Given the description of an element on the screen output the (x, y) to click on. 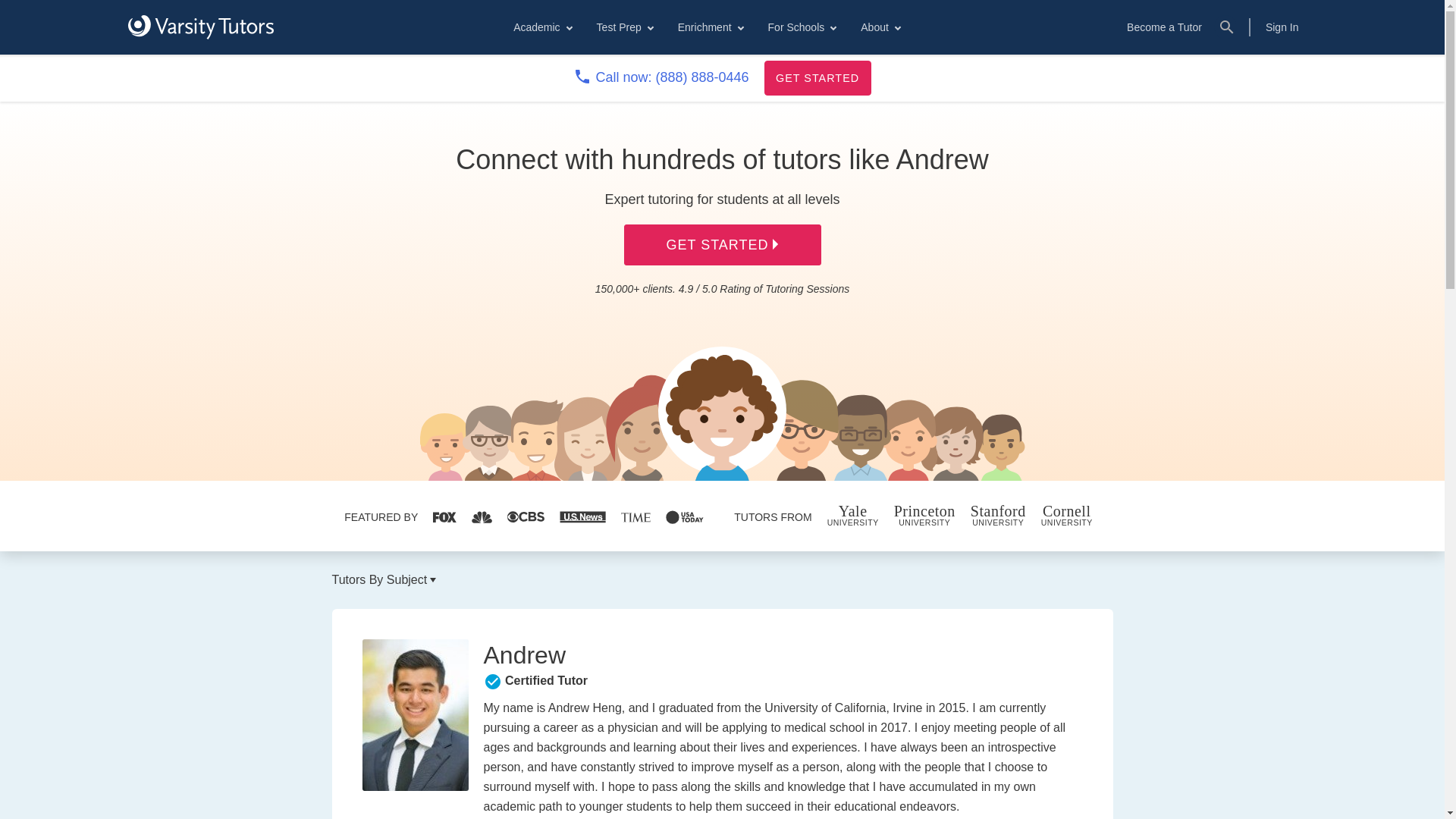
Academic (541, 27)
GET STARTED (817, 77)
Varsity Tutors (200, 27)
Varsity Tutors (200, 26)
